Given the description of an element on the screen output the (x, y) to click on. 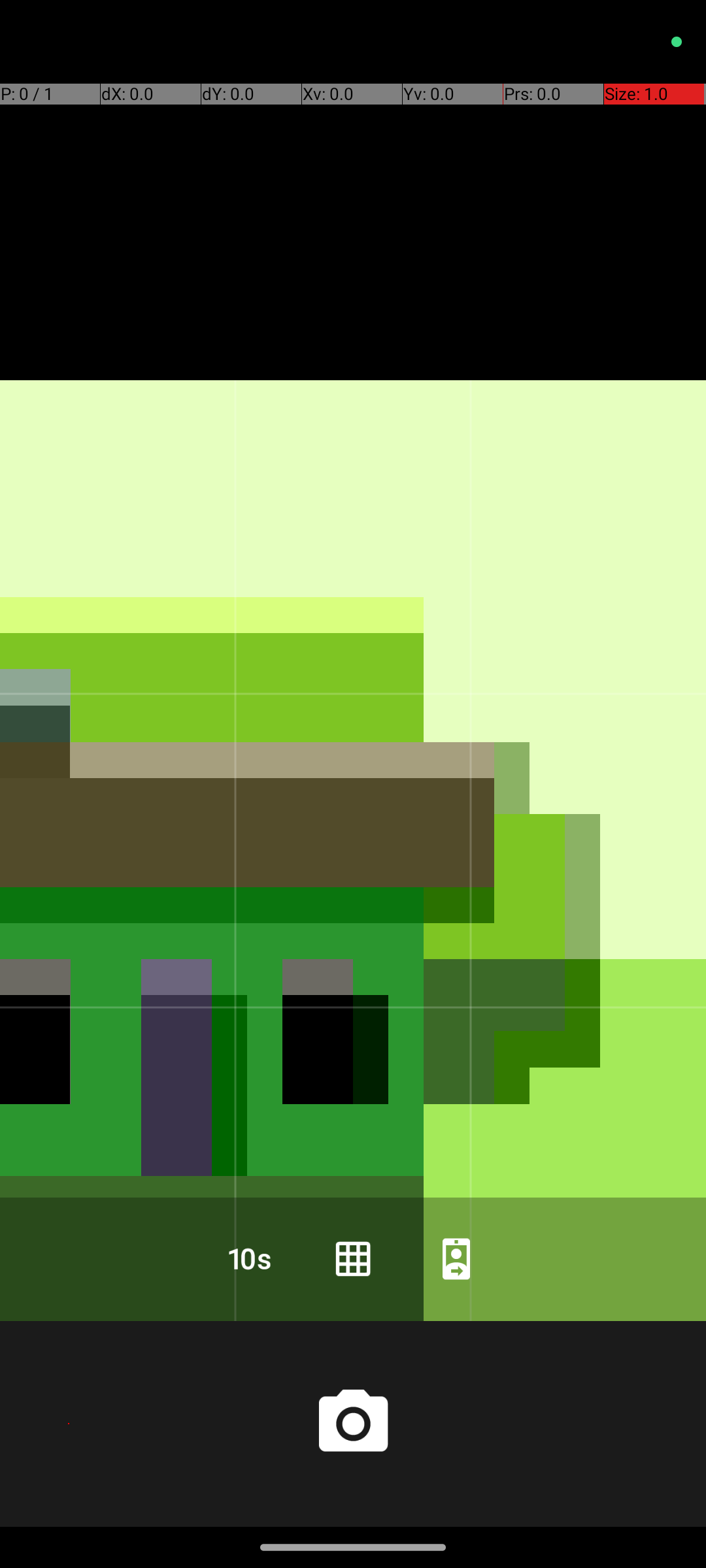
Countdown timer duration is set to 10 seconds Element type: android.widget.ImageButton (249, 1258)
